Given the description of an element on the screen output the (x, y) to click on. 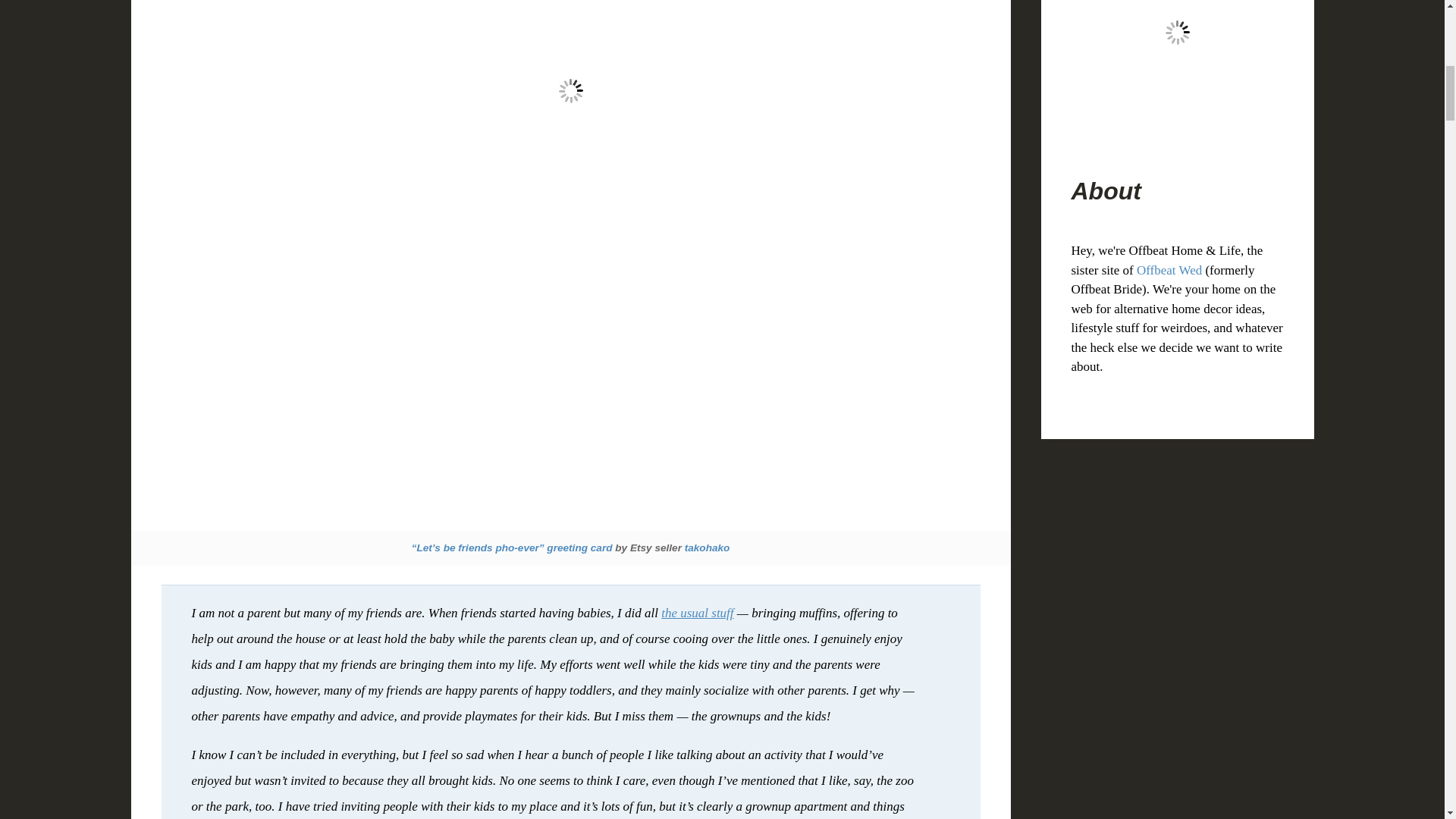
takohako (707, 547)
